Given the description of an element on the screen output the (x, y) to click on. 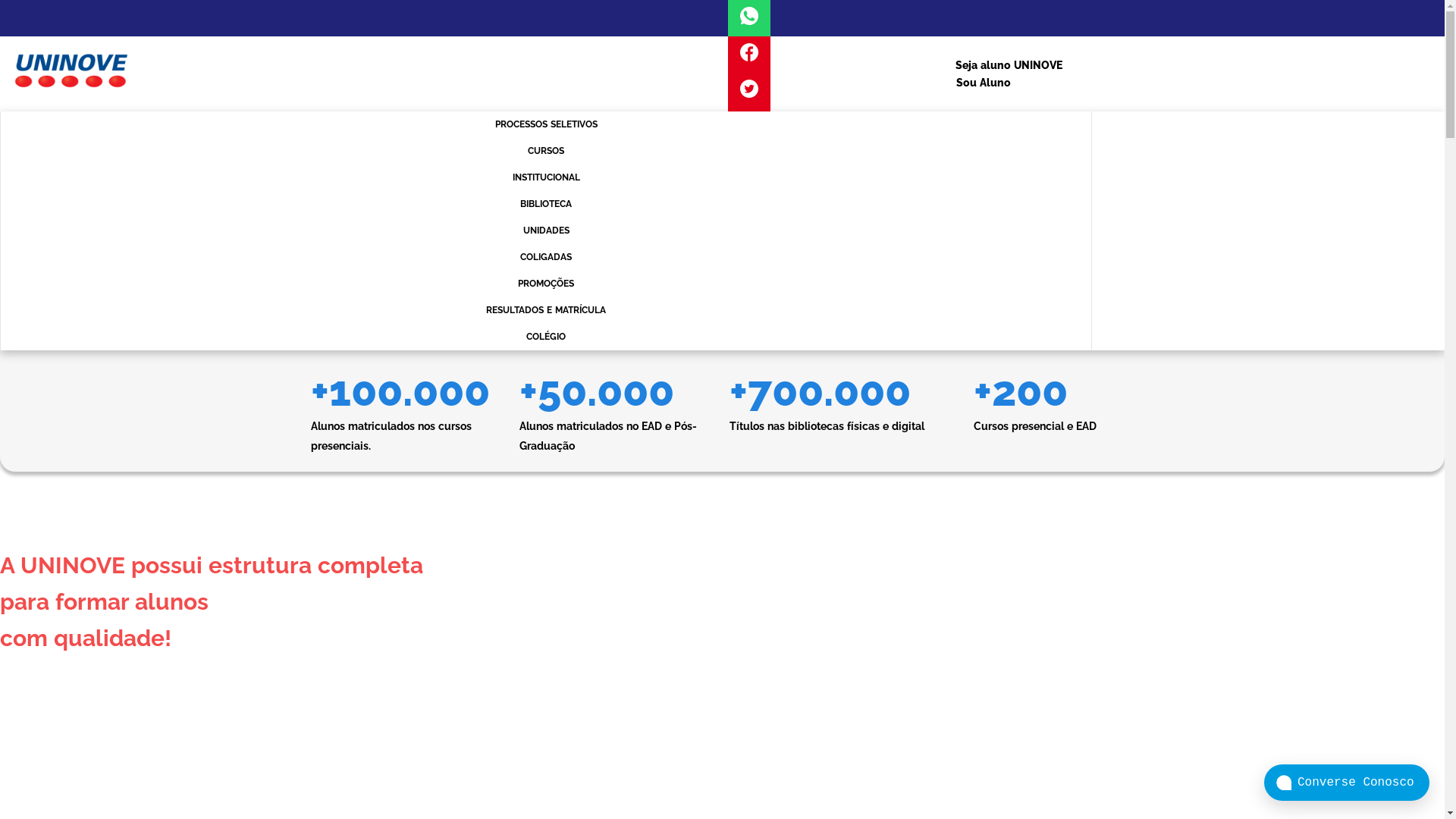
Converse Conosco Element type: text (1346, 782)
UNIDADES Element type: text (546, 230)
BIBLIOTECA Element type: text (546, 204)
